Given the description of an element on the screen output the (x, y) to click on. 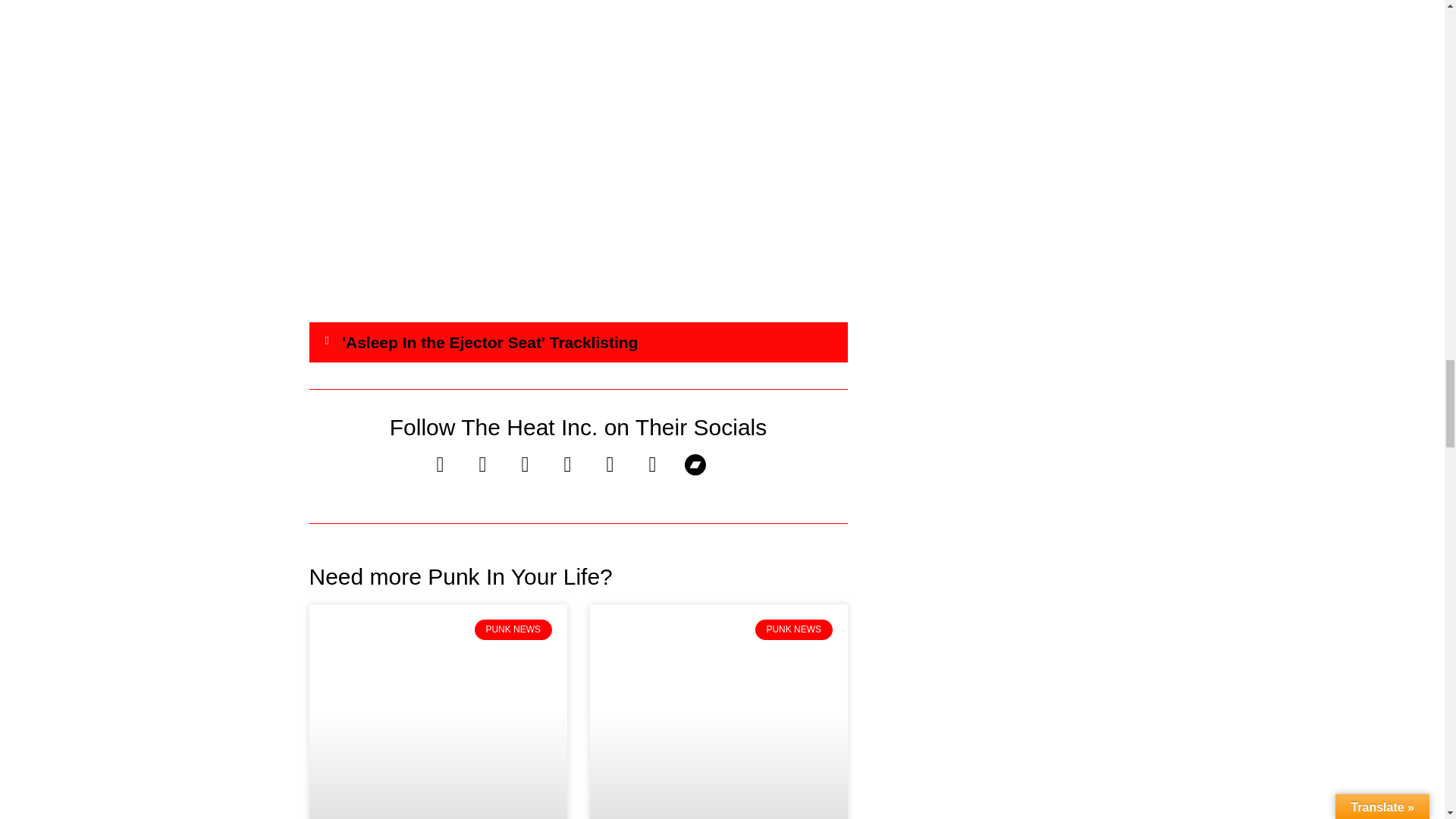
'Asleep In the Ejector Seat' Tracklisting (489, 342)
